Given the description of an element on the screen output the (x, y) to click on. 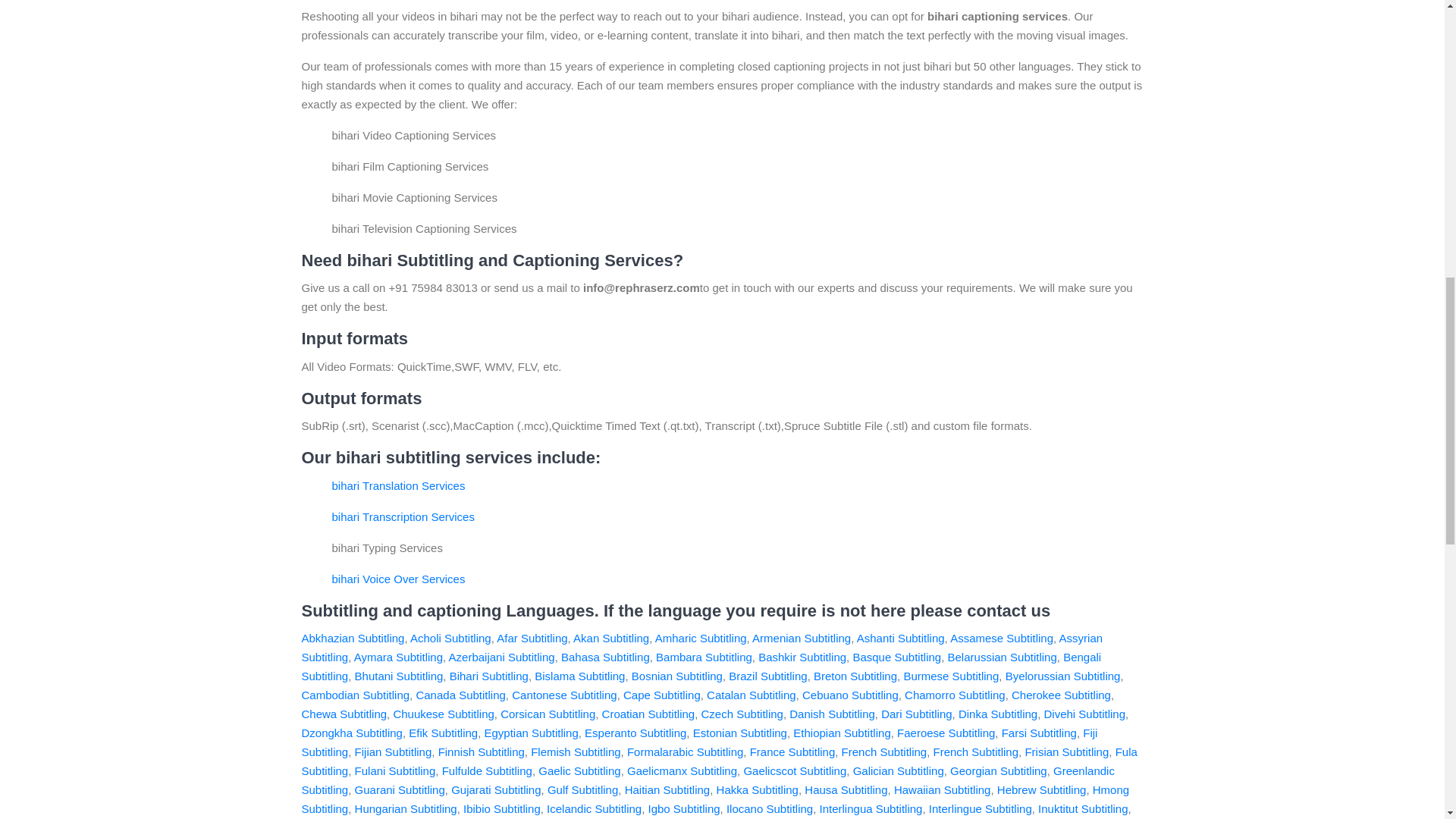
Akan (611, 637)
Abkhazian (352, 637)
Bihari (488, 675)
Armenian (801, 637)
Assamese (1001, 637)
Bhutani (399, 675)
Bambara (704, 656)
Ashanti (900, 637)
Belarussian (1002, 656)
Assyrian (702, 647)
